Given the description of an element on the screen output the (x, y) to click on. 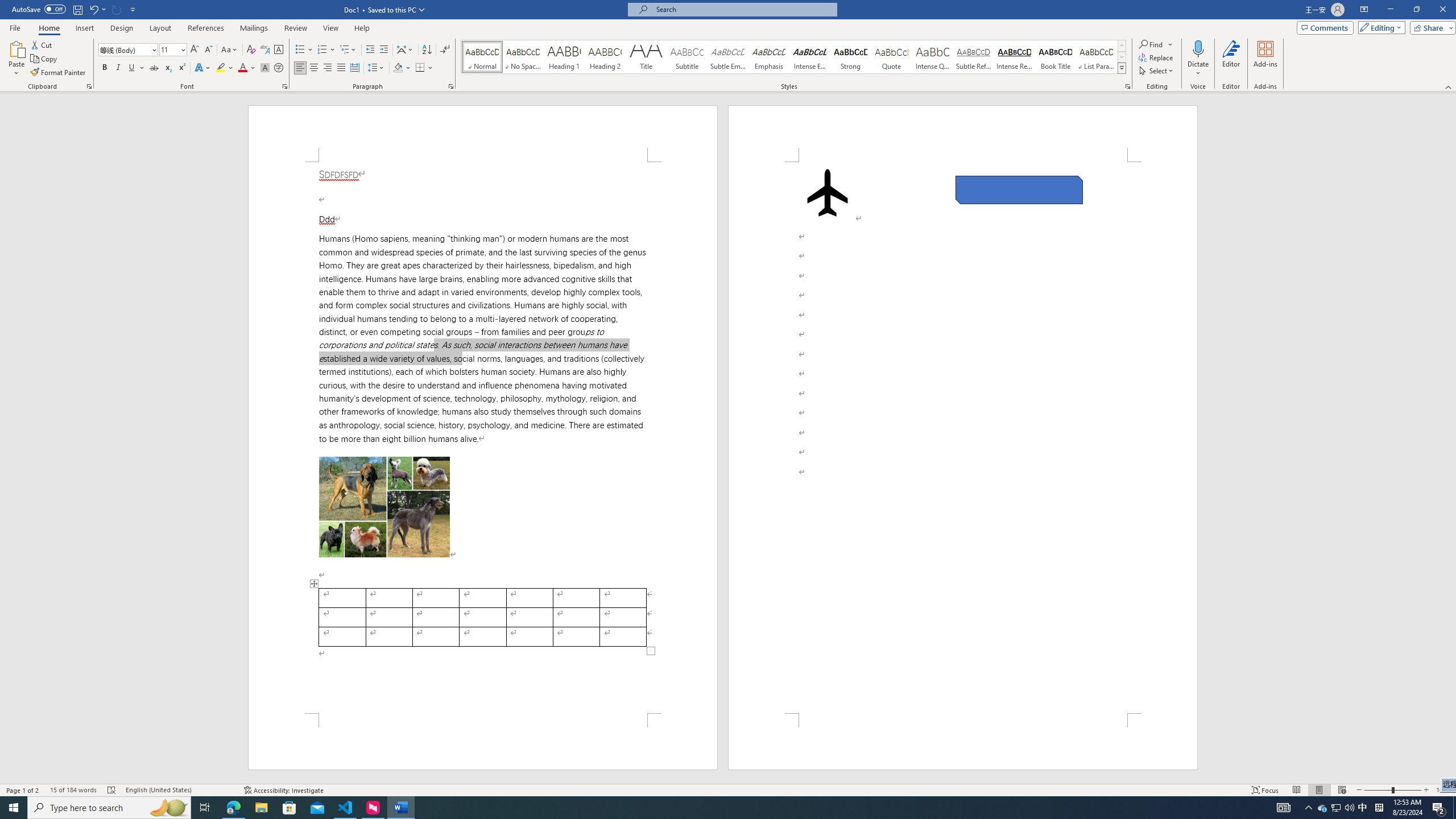
Undo Apply Quick Style Set (92, 9)
Subtitle (686, 56)
Microsoft search (742, 9)
Office Clipboard... (88, 85)
Can't Repeat (117, 9)
Change Case (229, 49)
Accessibility Checker Accessibility: Investigate (283, 790)
Bold (104, 67)
Subtle Reference (973, 56)
